Given the description of an element on the screen output the (x, y) to click on. 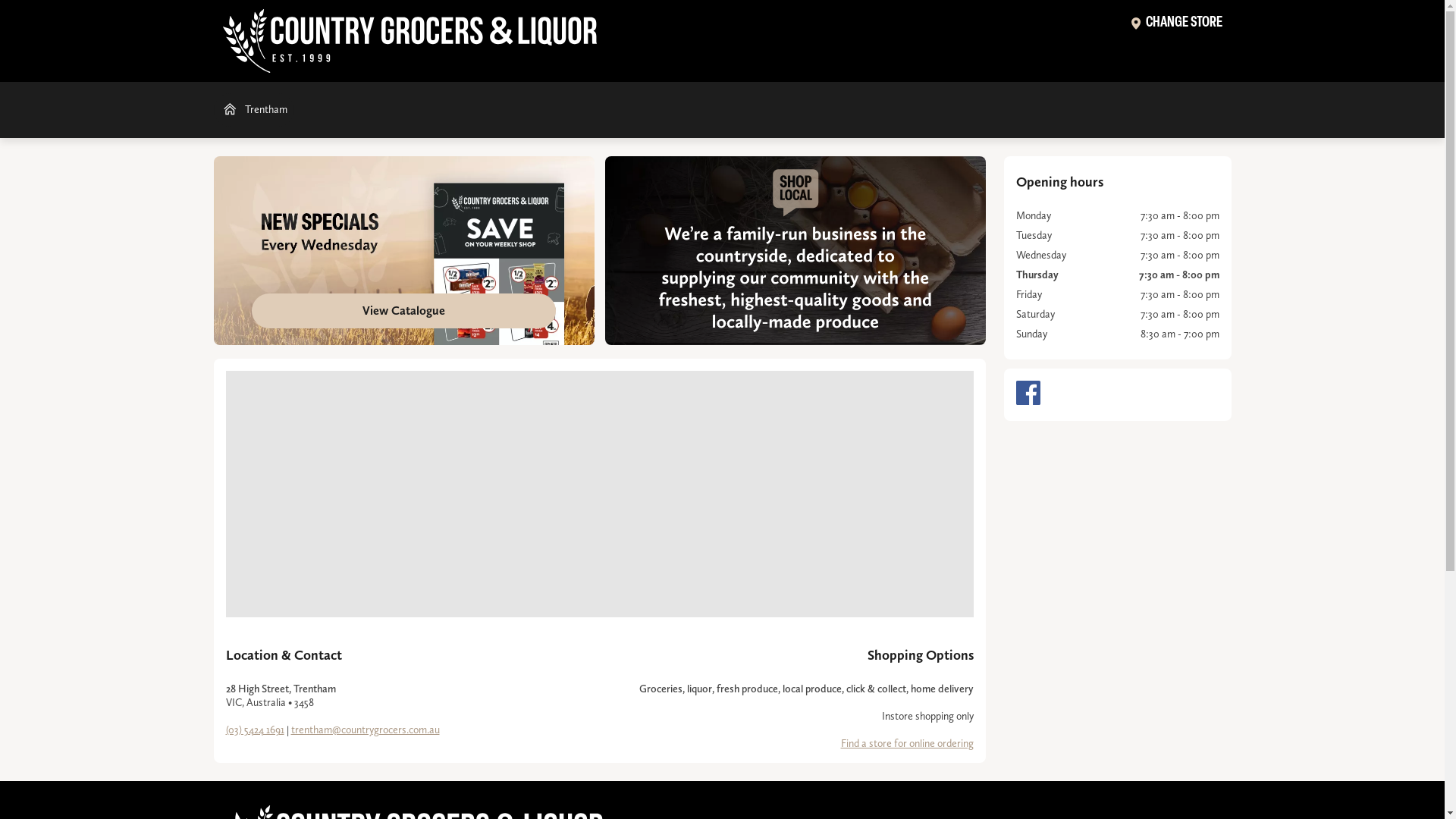
(03) 5424 1691 Element type: text (254, 729)
Find a store for online ordering Element type: text (906, 743)
CHANGE STORE Element type: text (1176, 24)
View Catalogue Element type: text (403, 250)
trentham@countrygrocers.com.au Element type: text (365, 729)
Trentham Element type: text (253, 109)
